Given the description of an element on the screen output the (x, y) to click on. 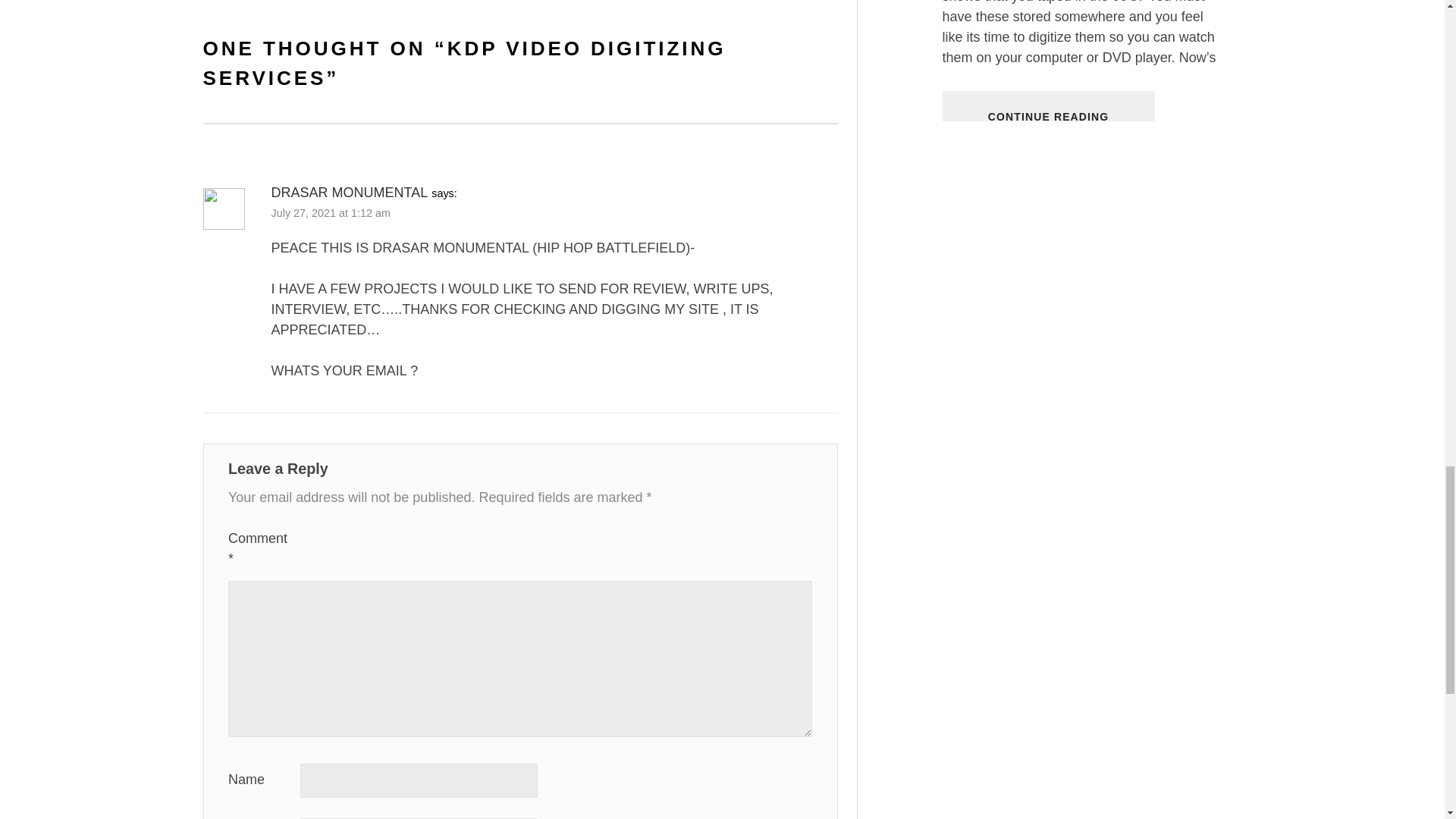
July 27, 2021 at 1:12 am (330, 213)
DRASAR MONUMENTAL (349, 192)
